Given the description of an element on the screen output the (x, y) to click on. 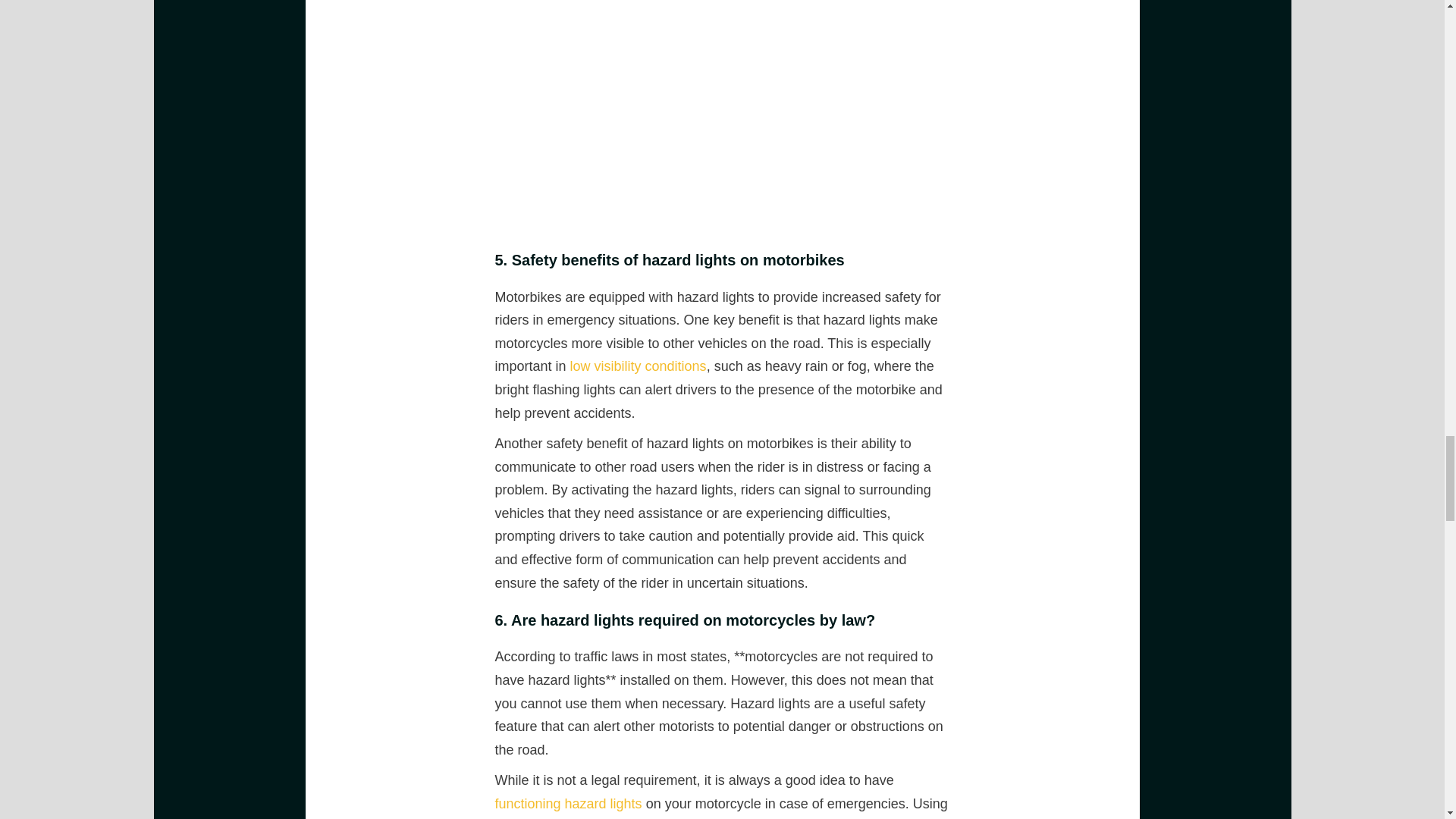
functioning hazard lights (568, 803)
Mastering Tek Helmet on PS4: A Friendly Guide (638, 365)
low visibility conditions (638, 365)
